Given the description of an element on the screen output the (x, y) to click on. 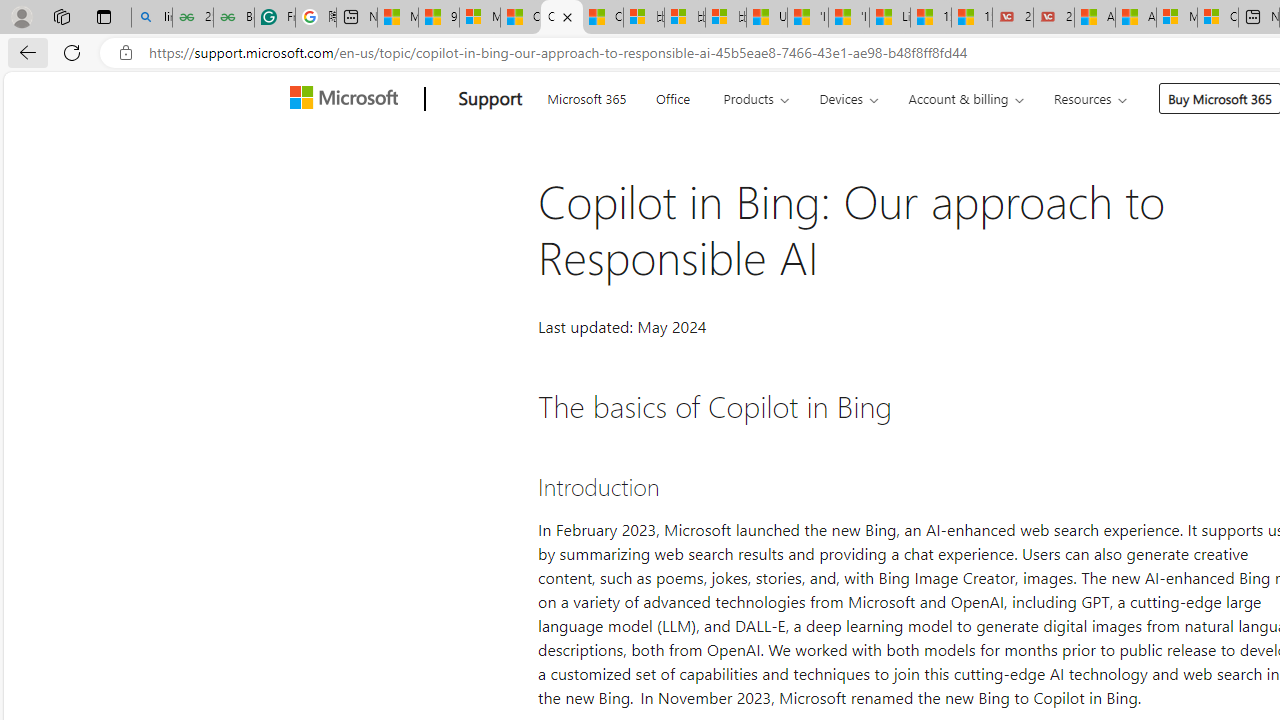
Cloud Computing Services | Microsoft Azure (1217, 17)
USA TODAY - MSN (767, 17)
21 Movies That Outdid the Books They Were Based On (1053, 17)
25 Basic Linux Commands For Beginners - GeeksforGeeks (192, 17)
